Given the description of an element on the screen output the (x, y) to click on. 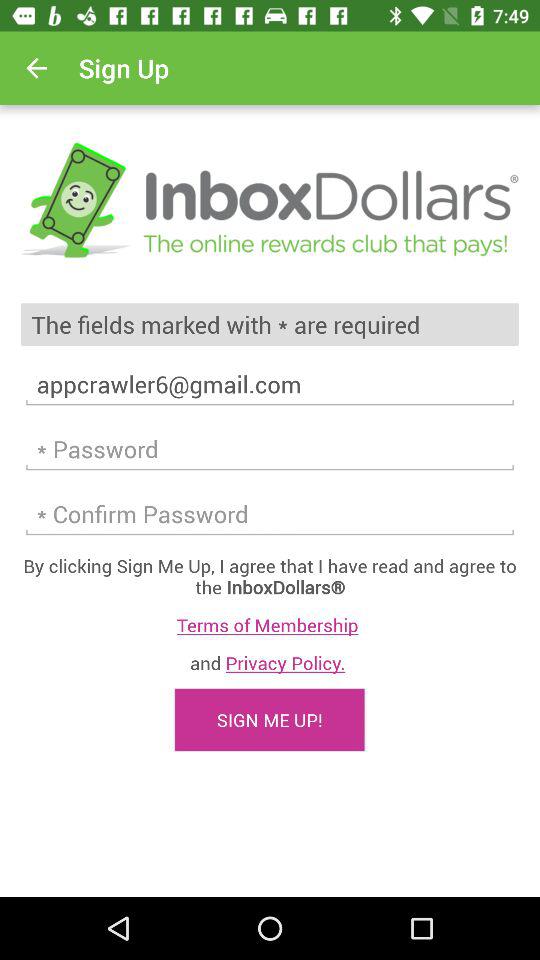
click the icon below the terms of membership  item (270, 662)
